Given the description of an element on the screen output the (x, y) to click on. 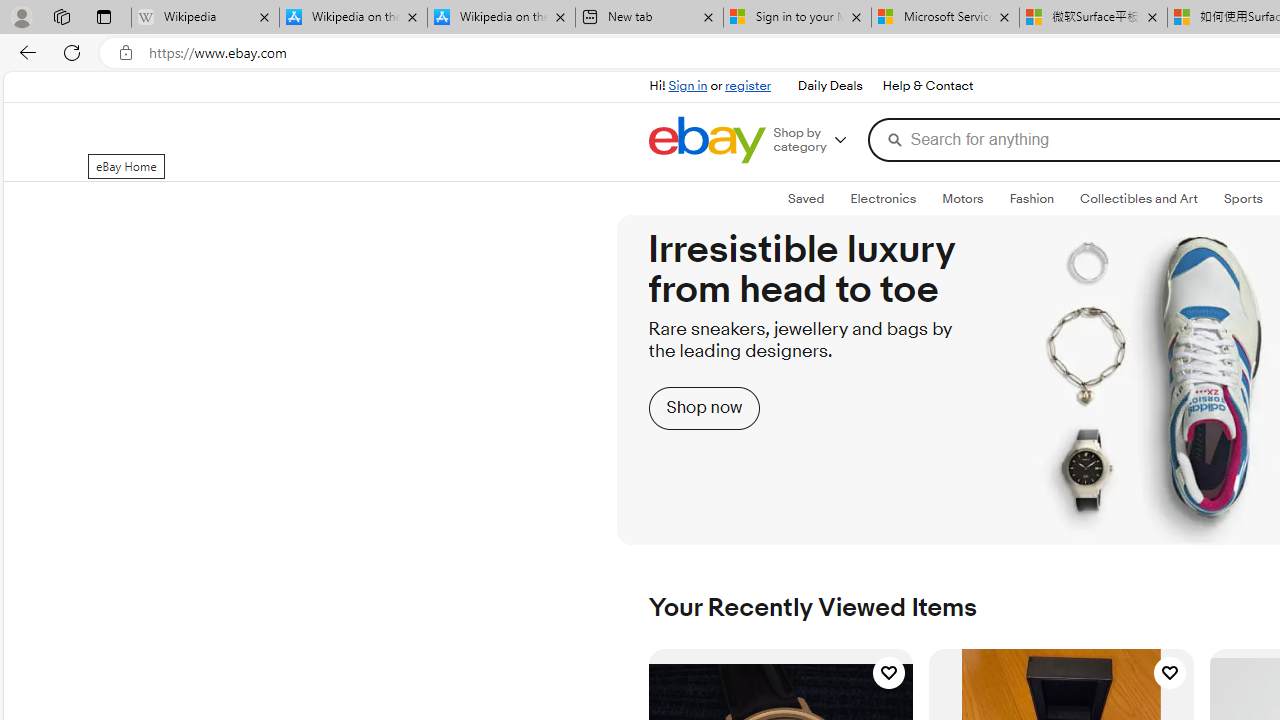
Wikipedia - Sleeping (205, 17)
Saved (806, 199)
ElectronicsExpand: Electronics (883, 199)
